Given the description of an element on the screen output the (x, y) to click on. 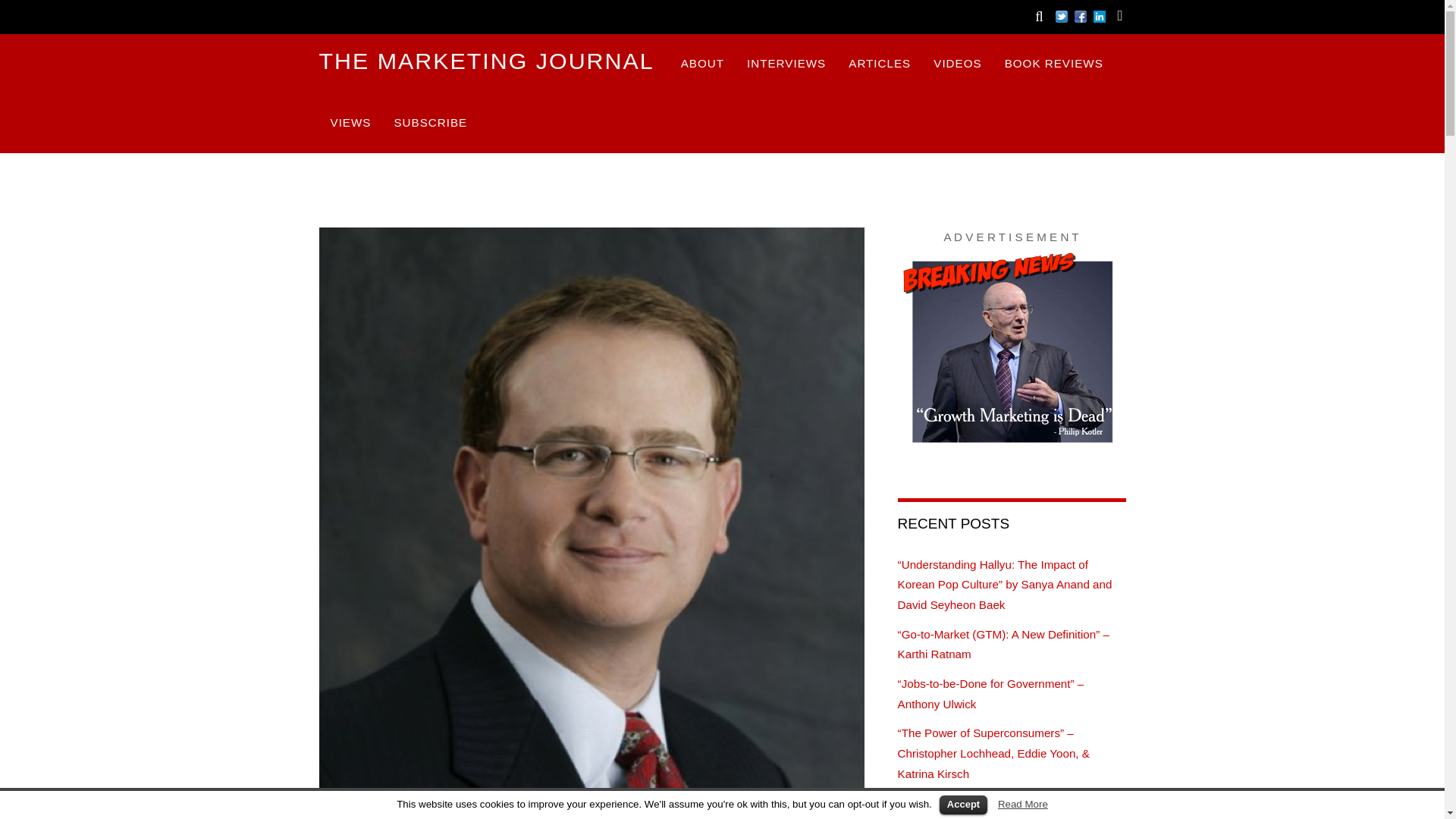
ARTICLES (879, 64)
INTERVIEWS (786, 64)
SUBSCRIBE (430, 123)
BOOK REVIEWS (1053, 64)
The Marketing Journal (485, 60)
VIEWS (349, 123)
ABOUT (702, 64)
VIDEOS (956, 64)
THE MARKETING JOURNAL (485, 60)
